Given the description of an element on the screen output the (x, y) to click on. 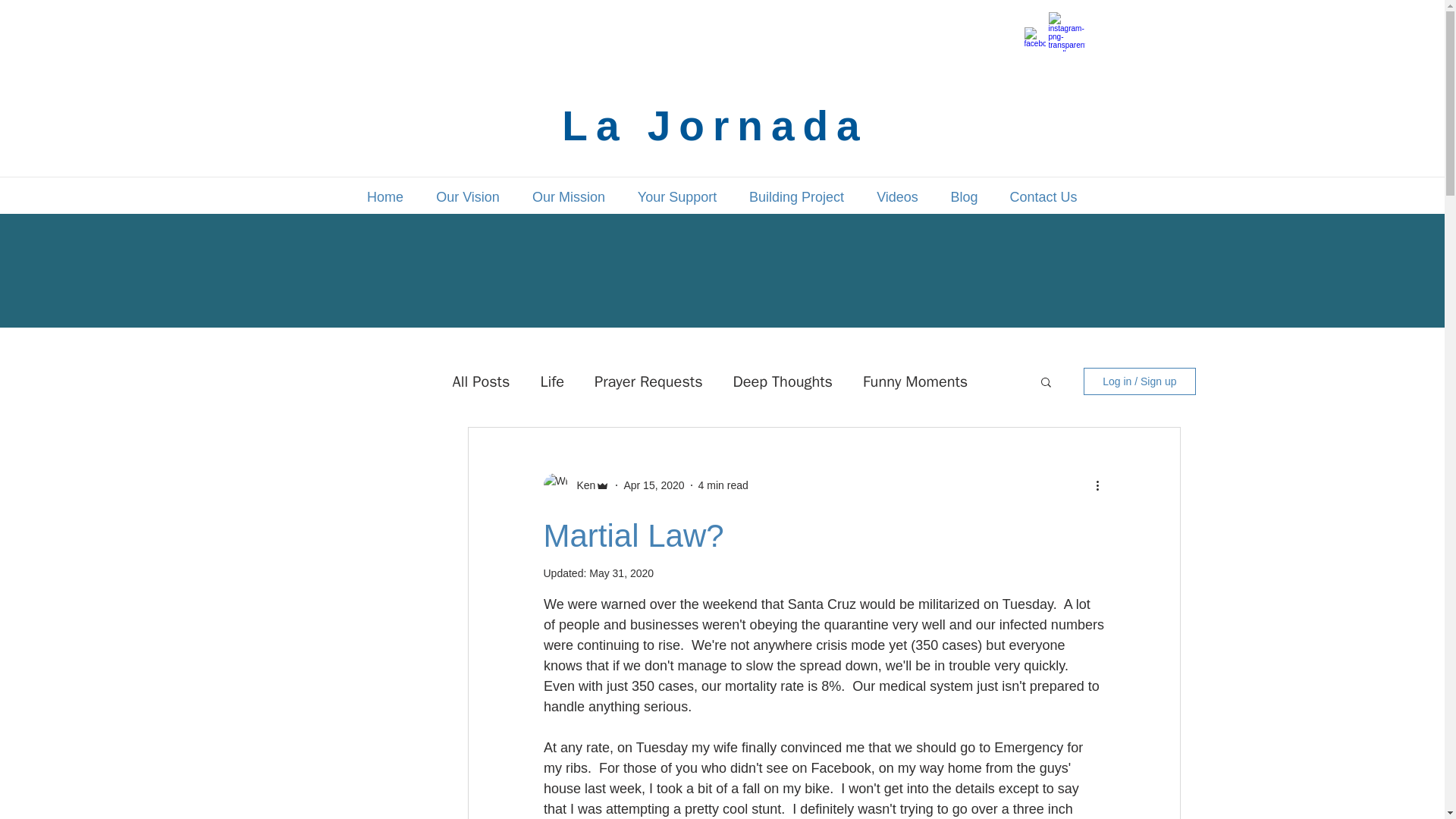
Contact Us (1042, 196)
Prayer Requests (648, 381)
Apr 15, 2020 (653, 485)
May 31, 2020 (621, 573)
Our Mission (568, 196)
Ken (581, 485)
All Posts (480, 381)
Life (552, 381)
Funny Moments (915, 381)
Our Vision (468, 196)
Building Project (796, 196)
La Jornada (714, 125)
Home (384, 196)
Your Support (677, 196)
4 min read (723, 485)
